Given the description of an element on the screen output the (x, y) to click on. 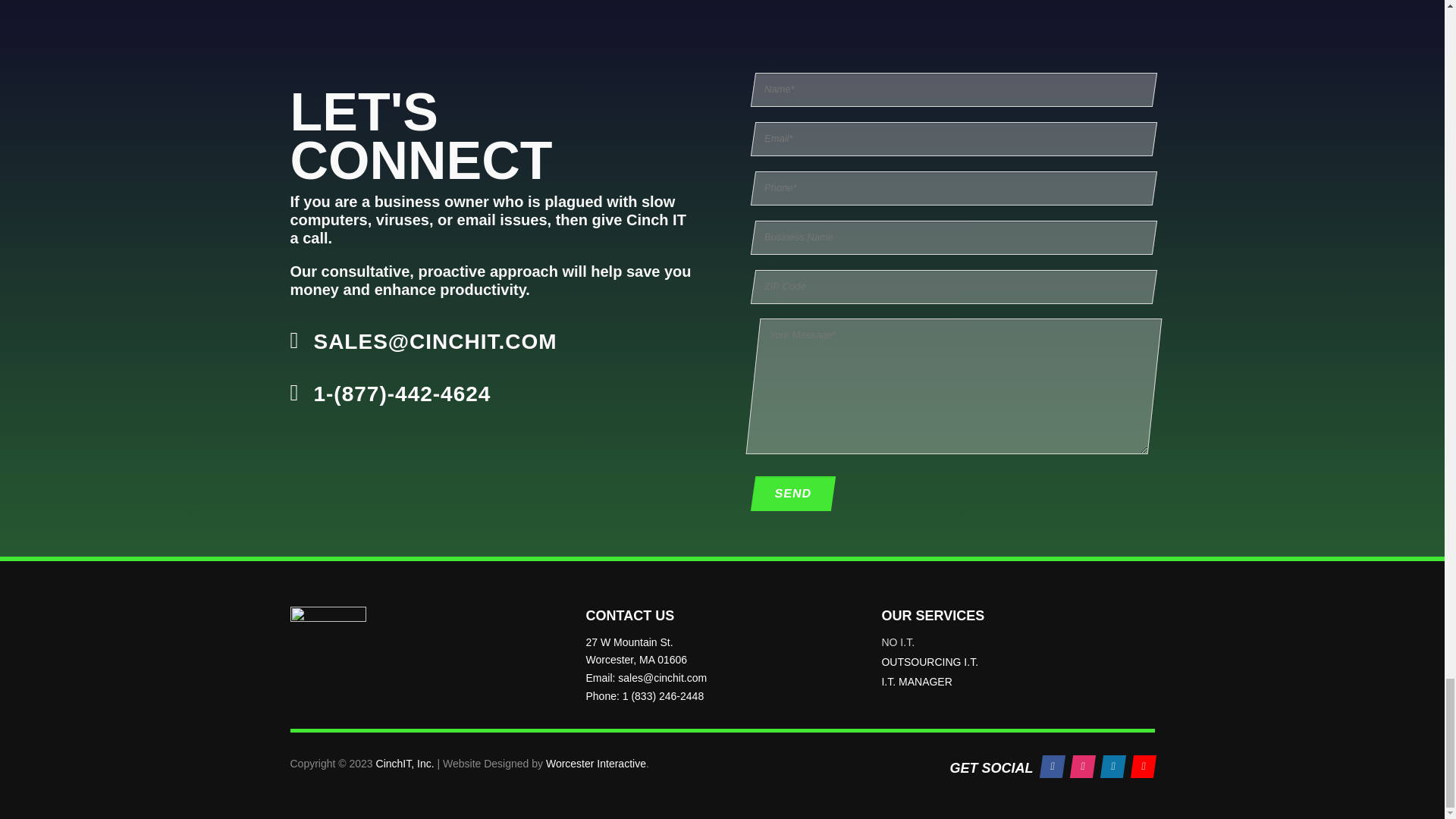
Worcester Interactive (596, 763)
OUTSOURCING I.T. (1017, 661)
SEND (789, 493)
I.T. MANAGER (1017, 681)
CinchIT, Inc. (404, 763)
SEND (789, 493)
NO I.T. (1017, 641)
